Given the description of an element on the screen output the (x, y) to click on. 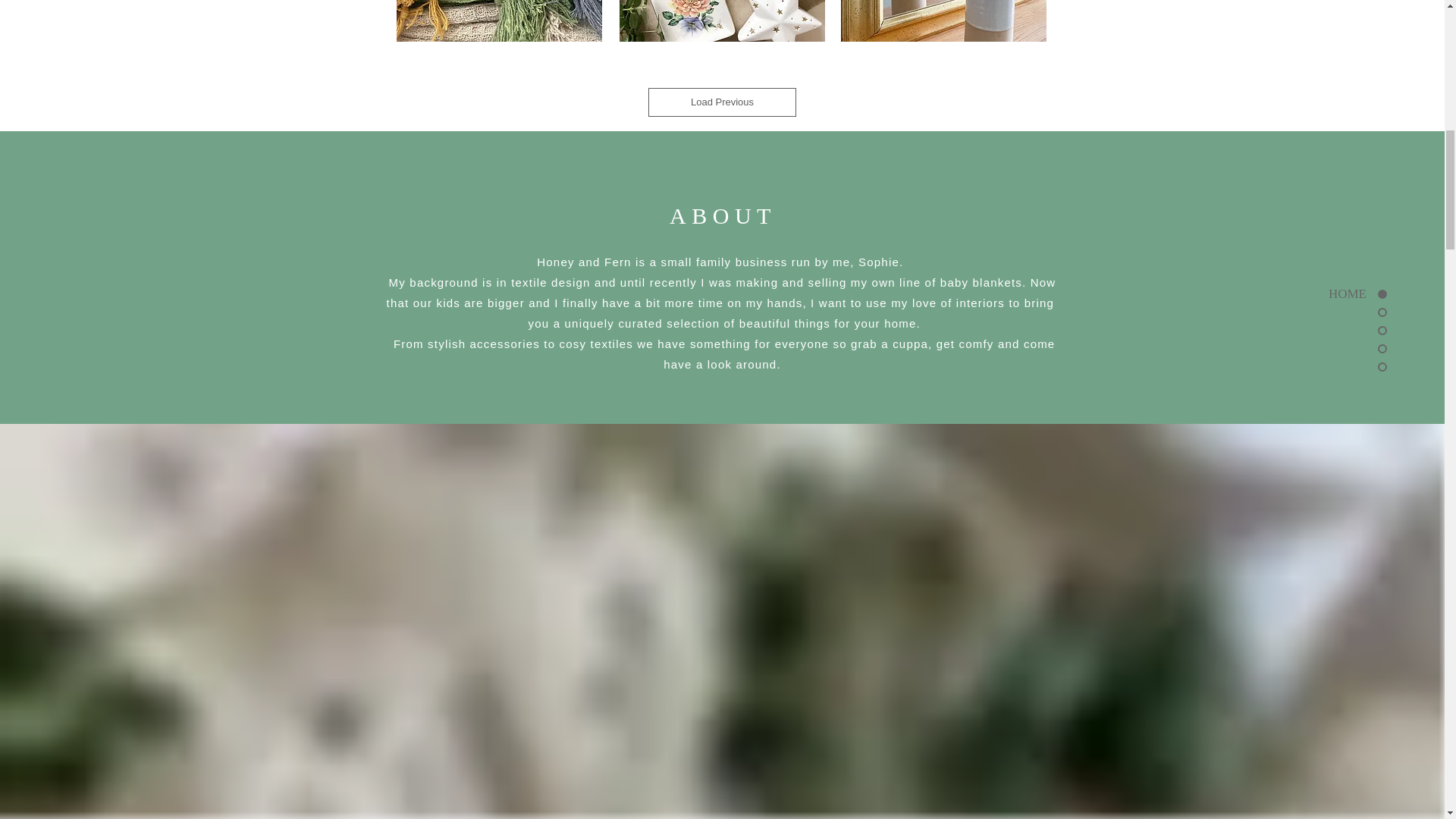
Load Previous (720, 102)
